Given the description of an element on the screen output the (x, y) to click on. 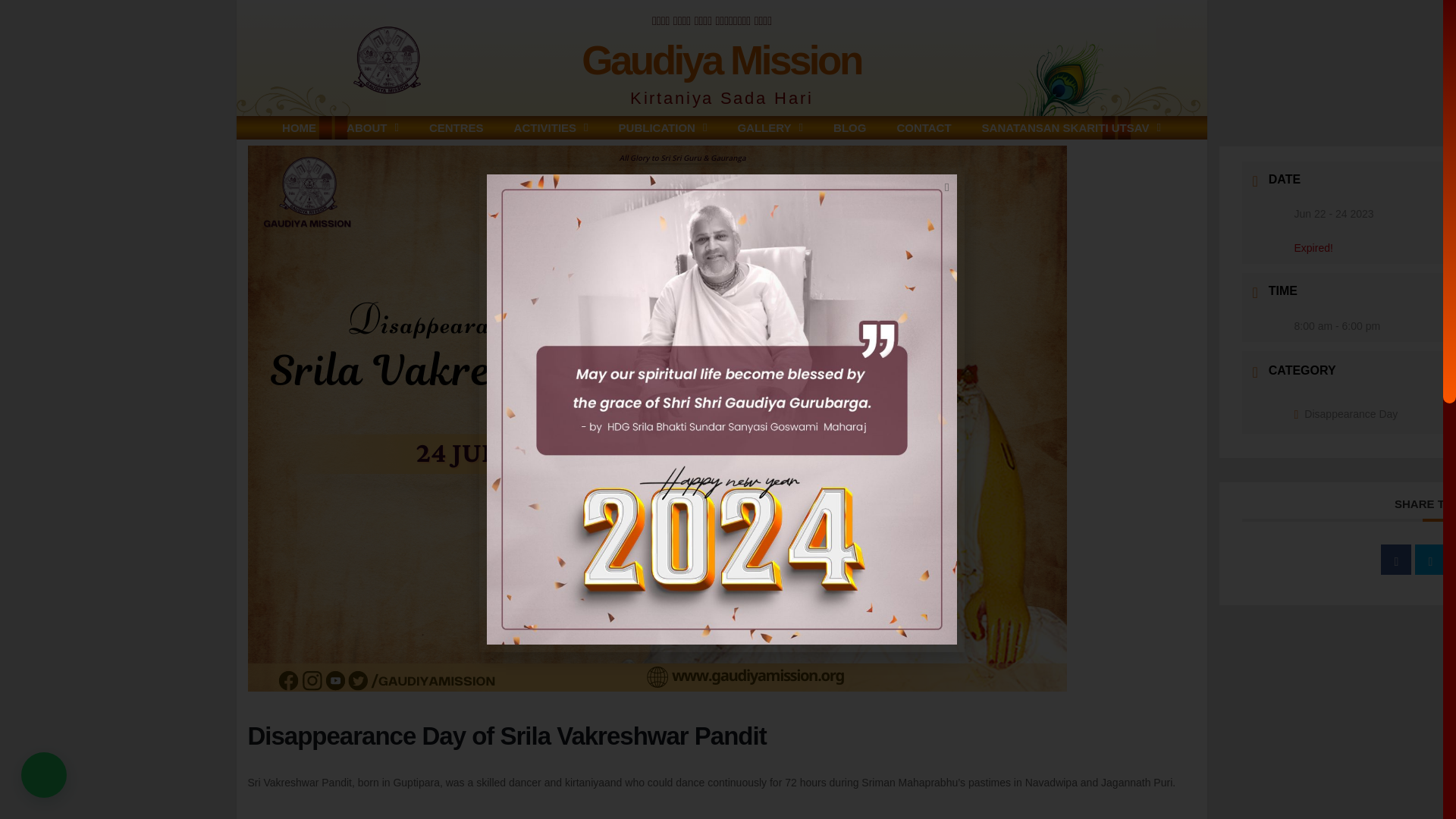
Tweet (1430, 559)
ABOUT (372, 127)
BLOG (849, 127)
HOME (298, 127)
PUBLICATION (663, 127)
SANATANSAN SKARITI UTSAV (1071, 127)
CONTACT (923, 127)
ACTIVITIES (551, 127)
GALLERY (770, 127)
Share on Facebook (1395, 559)
CENTRES (456, 127)
